Given the description of an element on the screen output the (x, y) to click on. 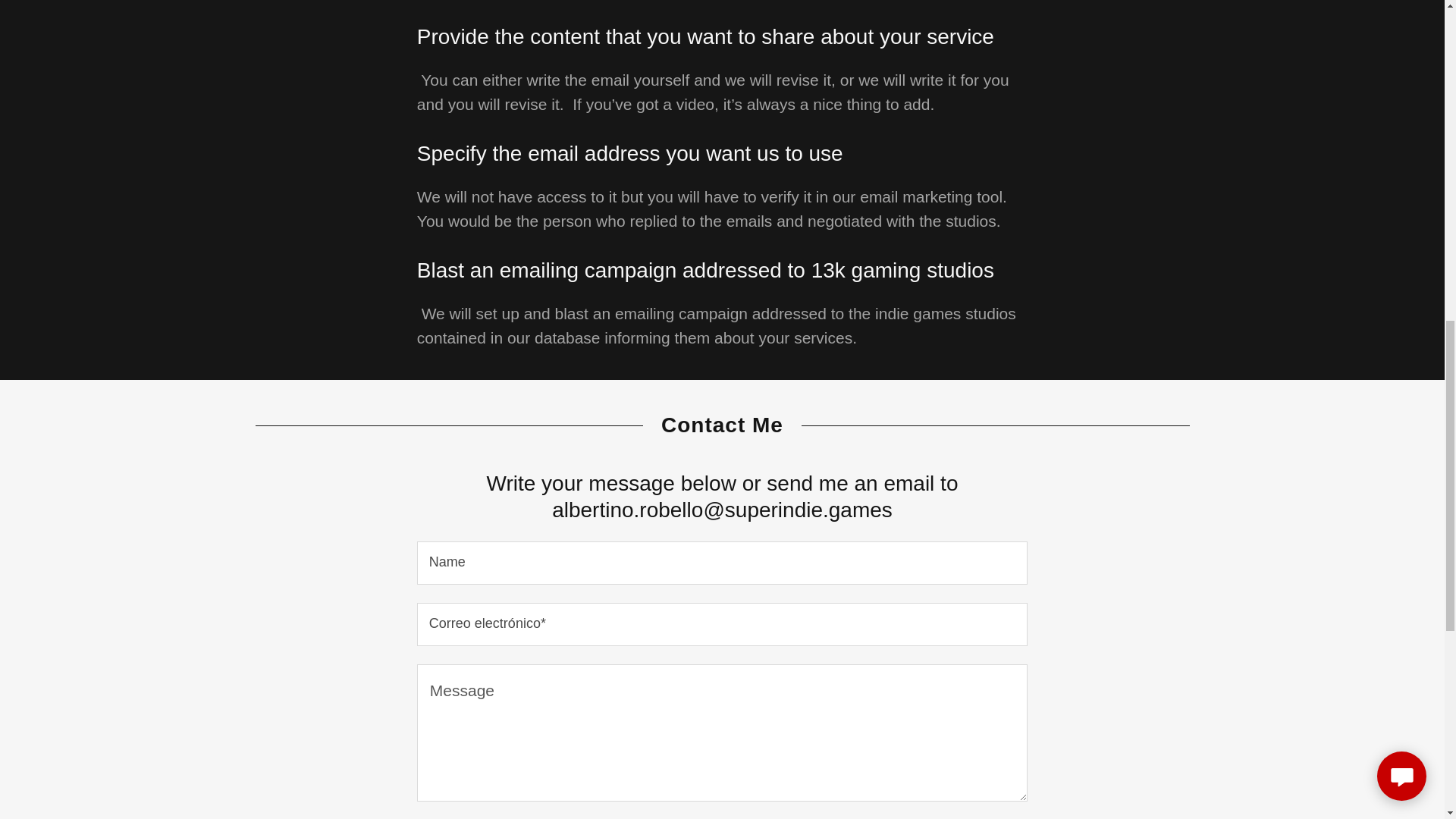
YES, THAT'S FINE FOR ME! (1274, 324)
